Given the description of an element on the screen output the (x, y) to click on. 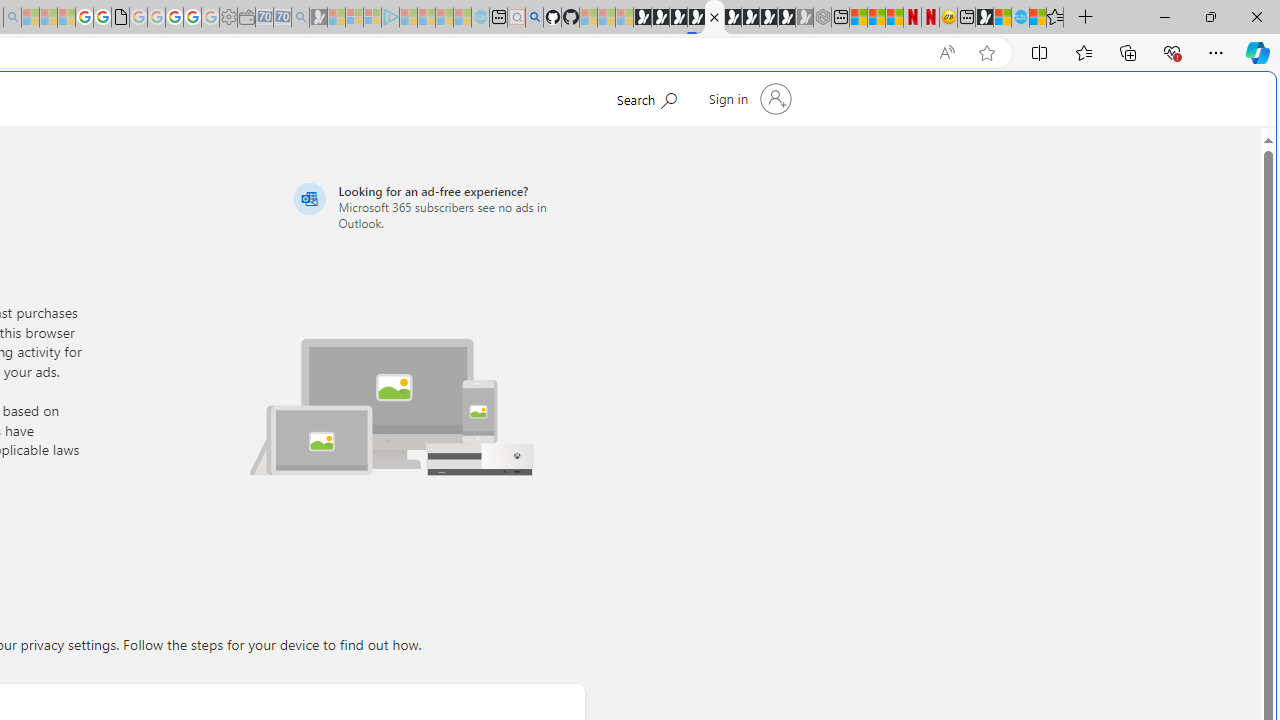
Illustration of multiple devices (391, 394)
Wallet - Sleeping (246, 17)
Home | Sky Blue Bikes - Sky Blue Bikes (687, 426)
Looking for an ad-free experience? (436, 206)
